Given the description of an element on the screen output the (x, y) to click on. 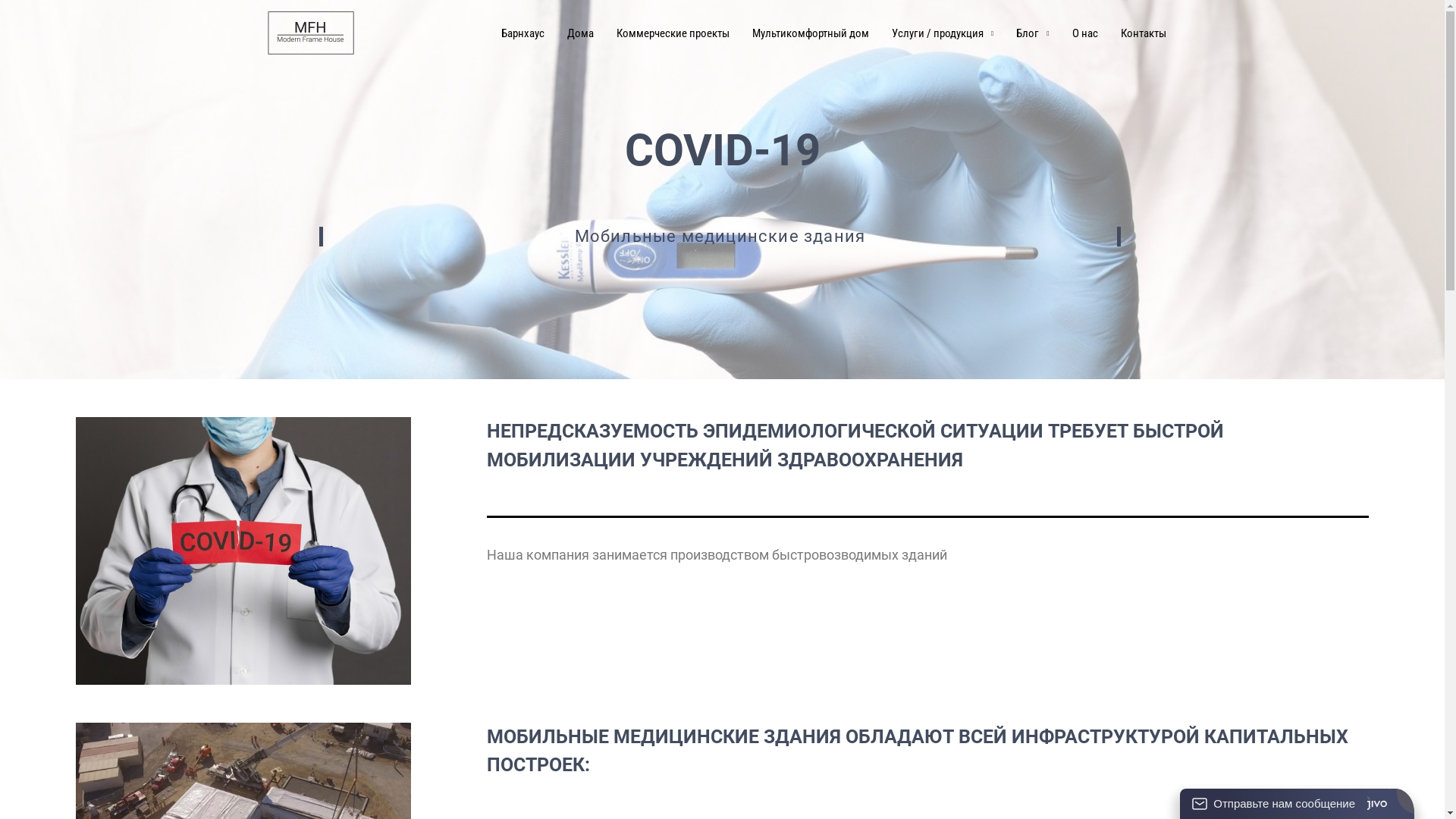
COVID-19 Element type: hover (309, 32)
COVID-19 Element type: hover (243, 550)
